Given the description of an element on the screen output the (x, y) to click on. 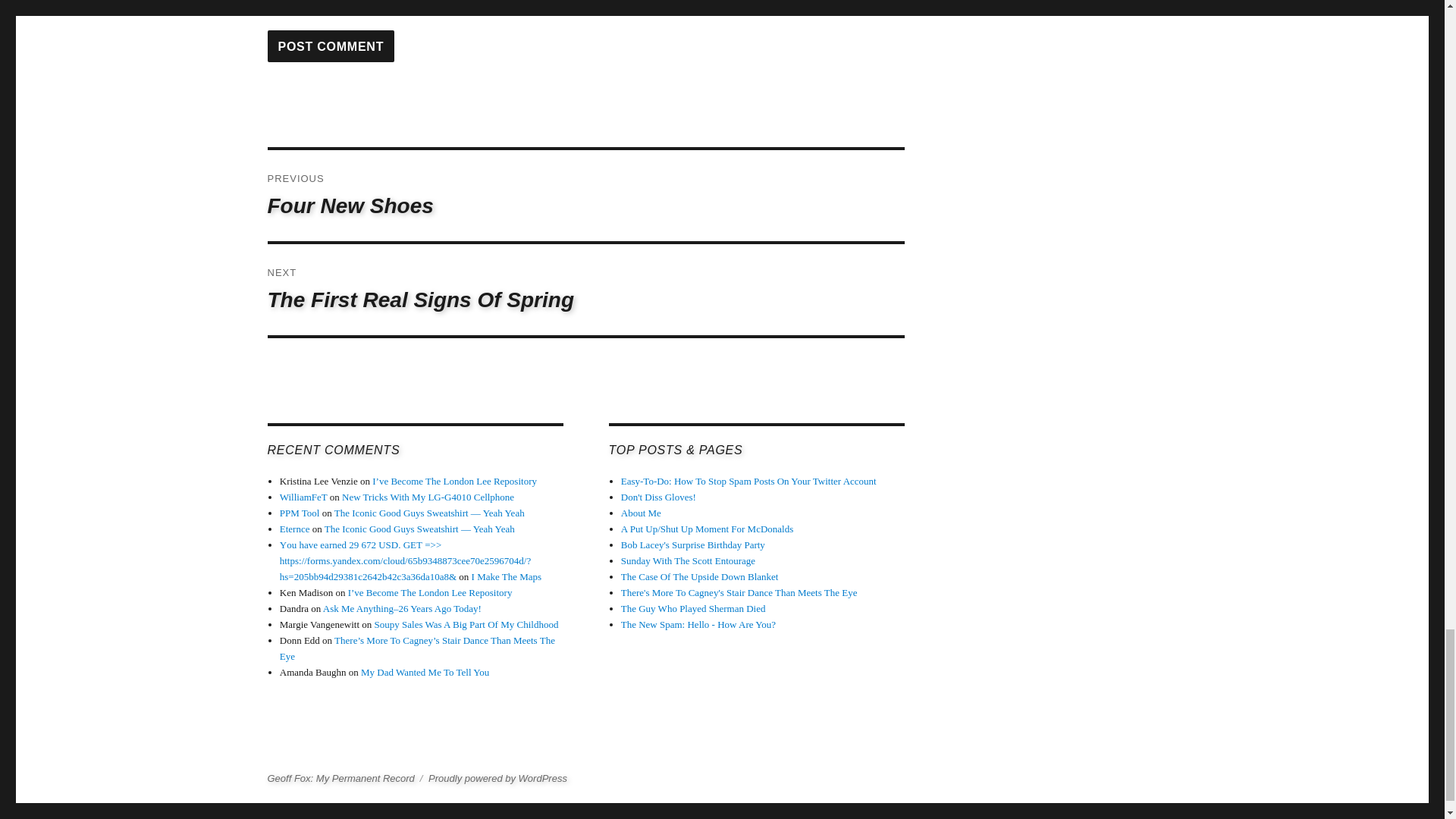
Soupy Sales Was A Big Part Of My Childhood (585, 194)
PPM Tool (466, 624)
Eternce (299, 512)
Post Comment (294, 528)
WilliamFeT (330, 46)
I Make The Maps (303, 496)
New Tricks With My LG-G4010 Cellphone (506, 576)
Post Comment (427, 496)
